Given the description of an element on the screen output the (x, y) to click on. 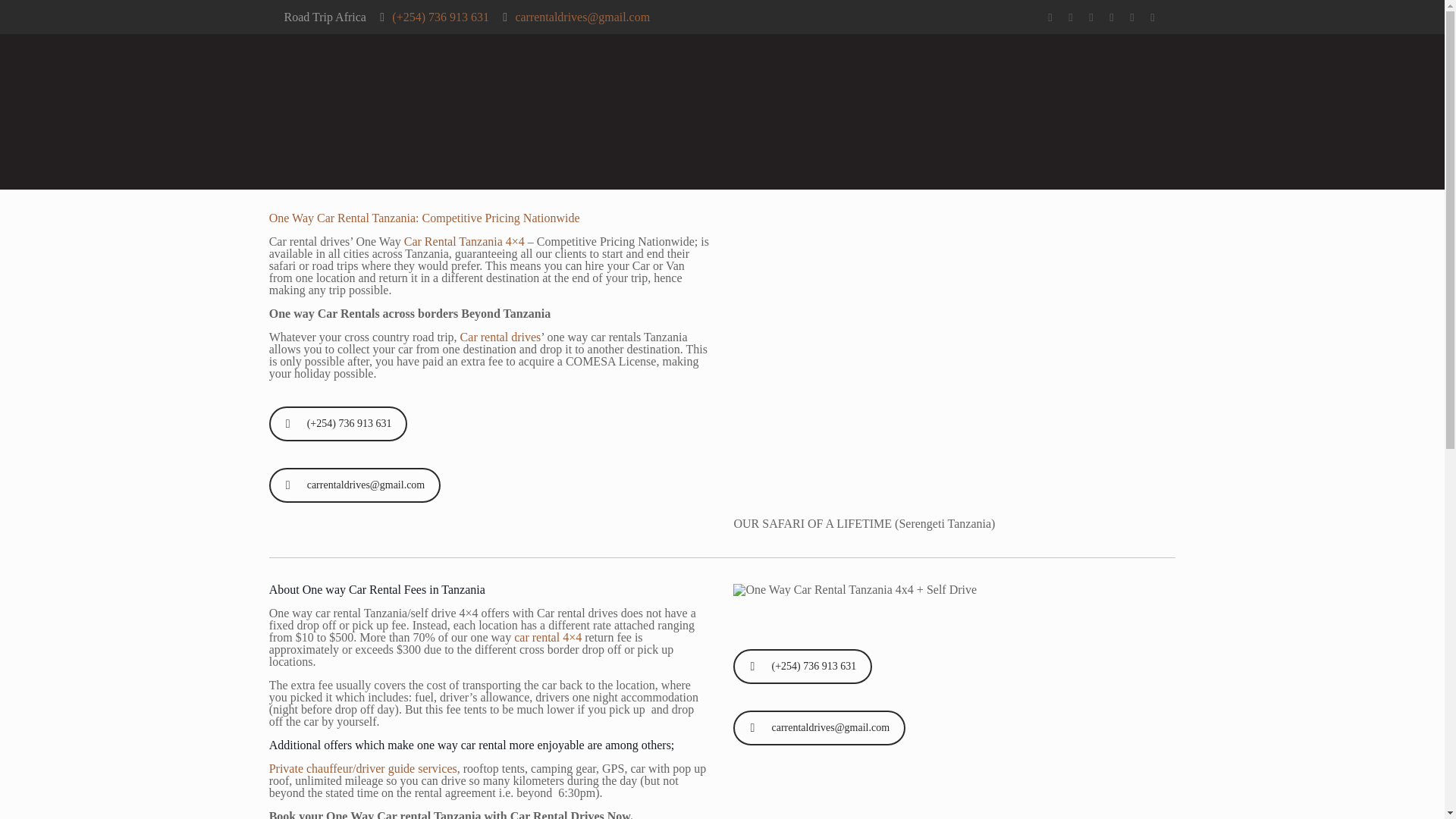
Tripadvisor (1152, 17)
WhatsApp (1050, 17)
YouTube video player (953, 363)
Instagram (1132, 17)
Facebook (1070, 17)
Pinterest (1111, 17)
Twitter (1091, 17)
